Given the description of an element on the screen output the (x, y) to click on. 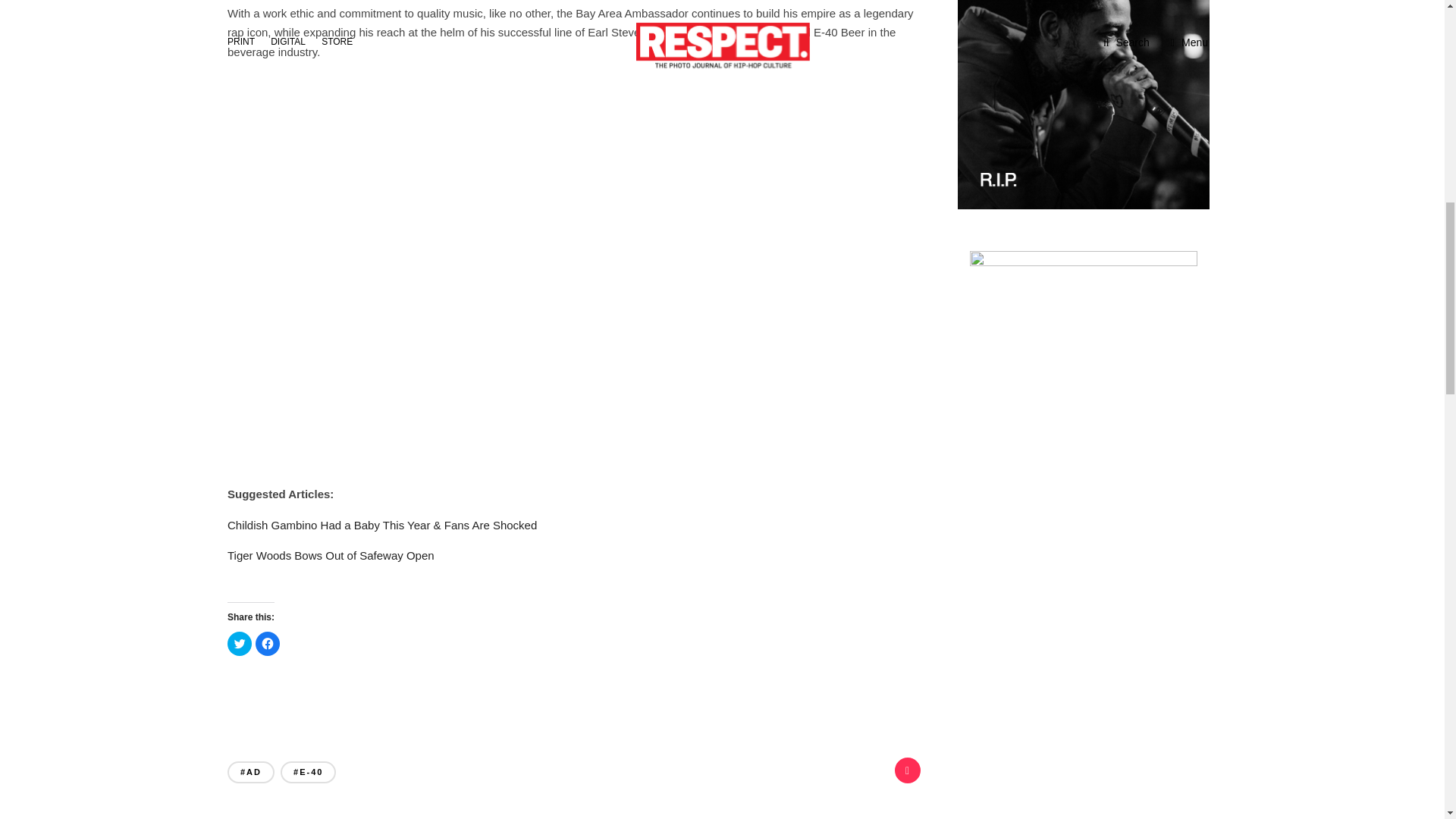
Click to share on Facebook (267, 643)
Click to share on Twitter (239, 643)
